Given the description of an element on the screen output the (x, y) to click on. 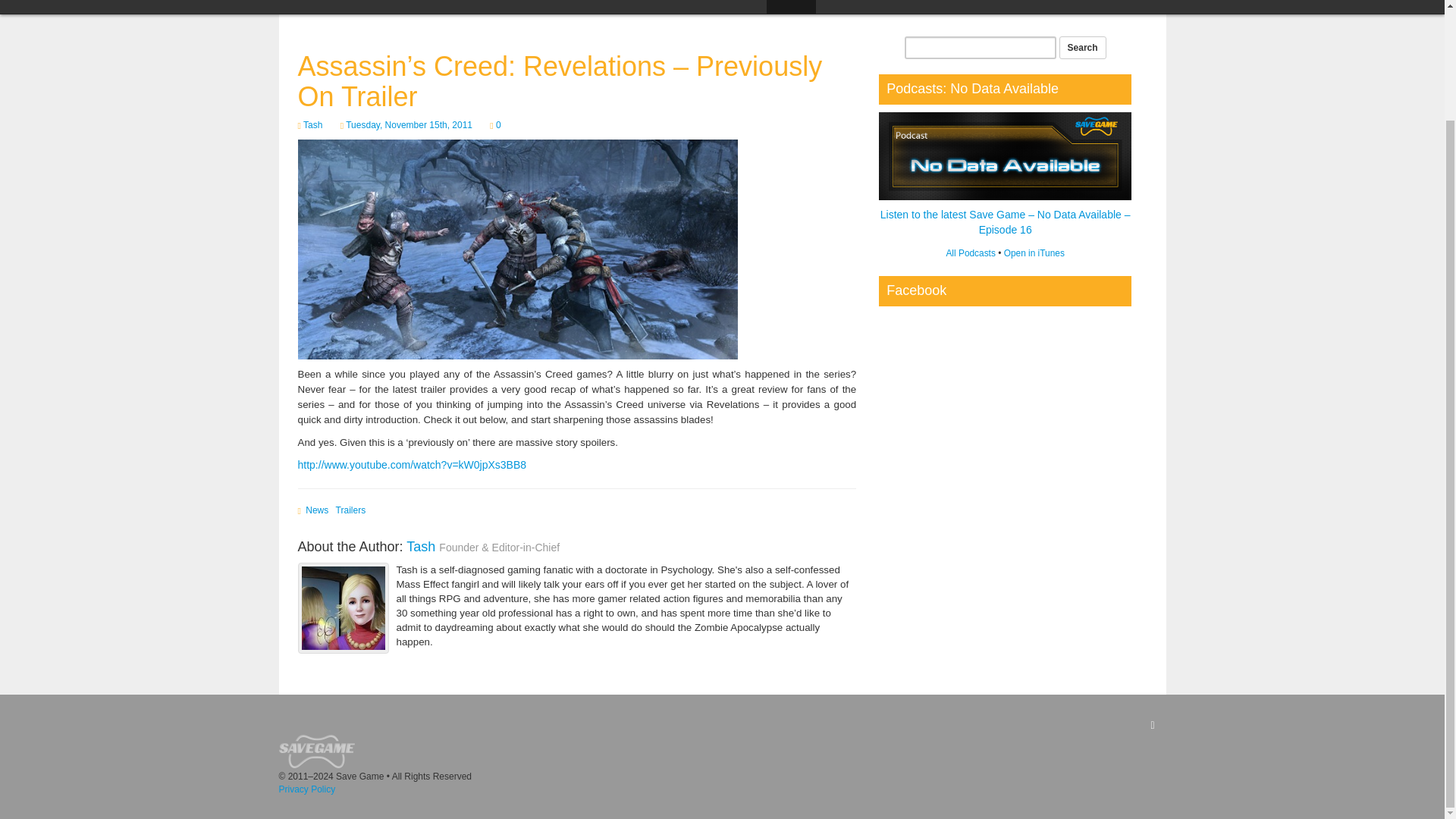
Platforms (1114, 6)
Save Game (318, 750)
Previews (911, 6)
Posts by Tash (311, 124)
Tash (420, 546)
All Podcasts (969, 253)
News (791, 6)
Posts by Tash (420, 546)
Reviews (847, 6)
Home (598, 6)
